Given the description of an element on the screen output the (x, y) to click on. 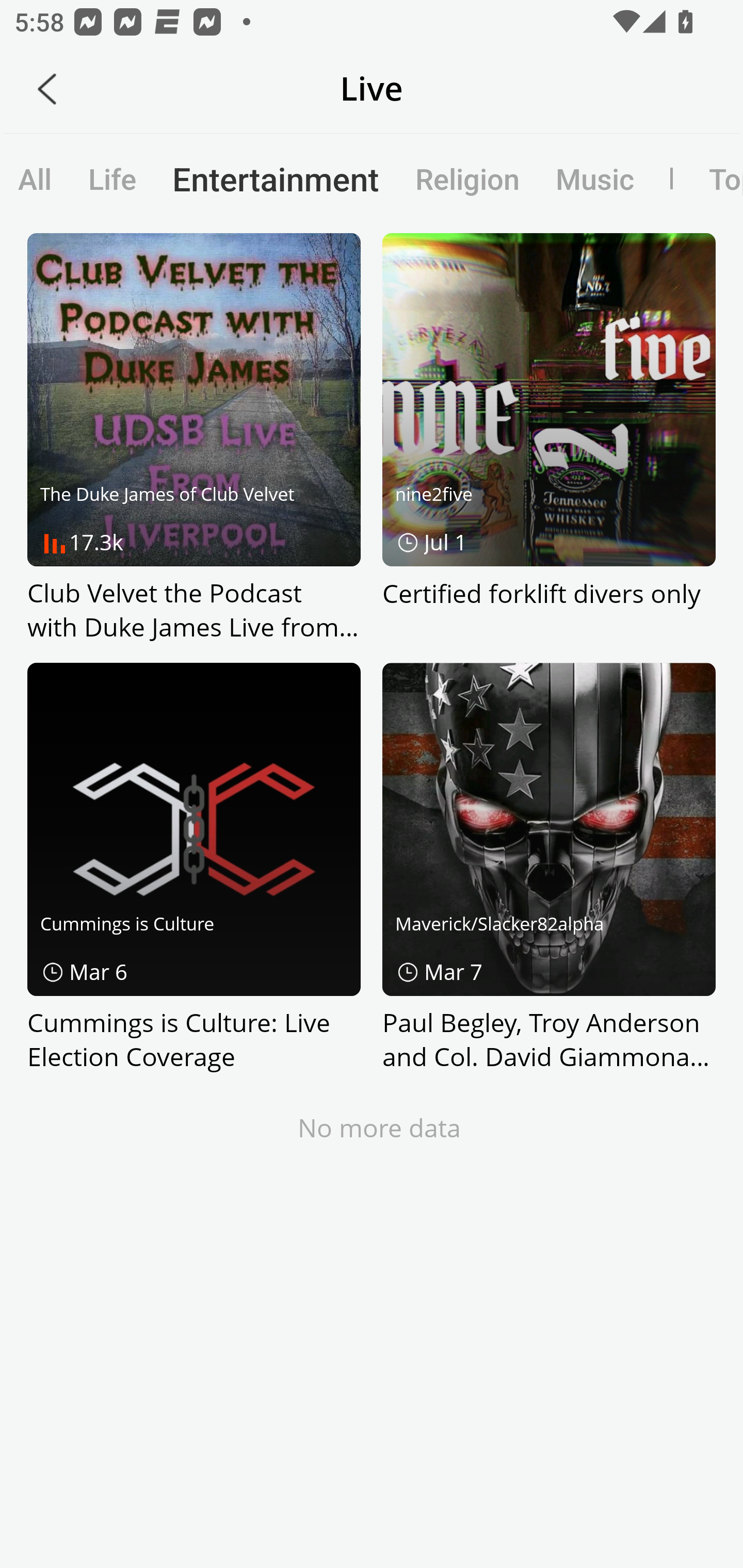
Back (46, 88)
All (34, 178)
Life (111, 178)
Religion (467, 178)
Music (594, 178)
nine2five Jul 1 Certified forklift divers only (548, 438)
No more data (379, 1127)
